Given the description of an element on the screen output the (x, y) to click on. 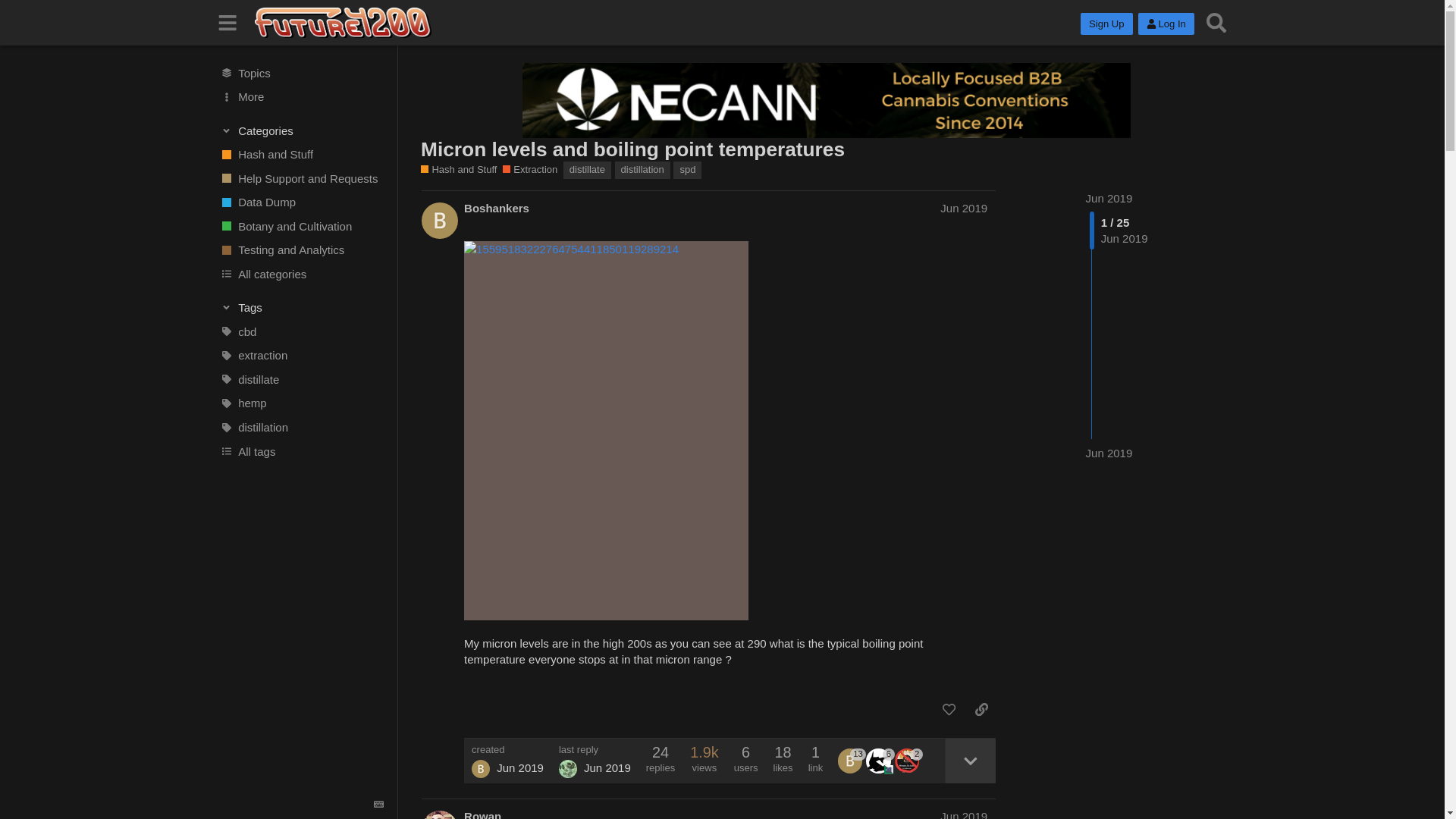
distillation (301, 427)
All tags (301, 450)
All categories (301, 274)
Micron levels and boiling point temperatures (632, 149)
Toggle section (301, 130)
Categories (301, 130)
Extraction (529, 169)
Jun 2019 (963, 207)
Topics (301, 72)
Sidebar (227, 22)
distillate (587, 169)
Jun 2019 (1109, 197)
Botany and Cultivation (301, 225)
Need help? Post here! (301, 178)
